Given the description of an element on the screen output the (x, y) to click on. 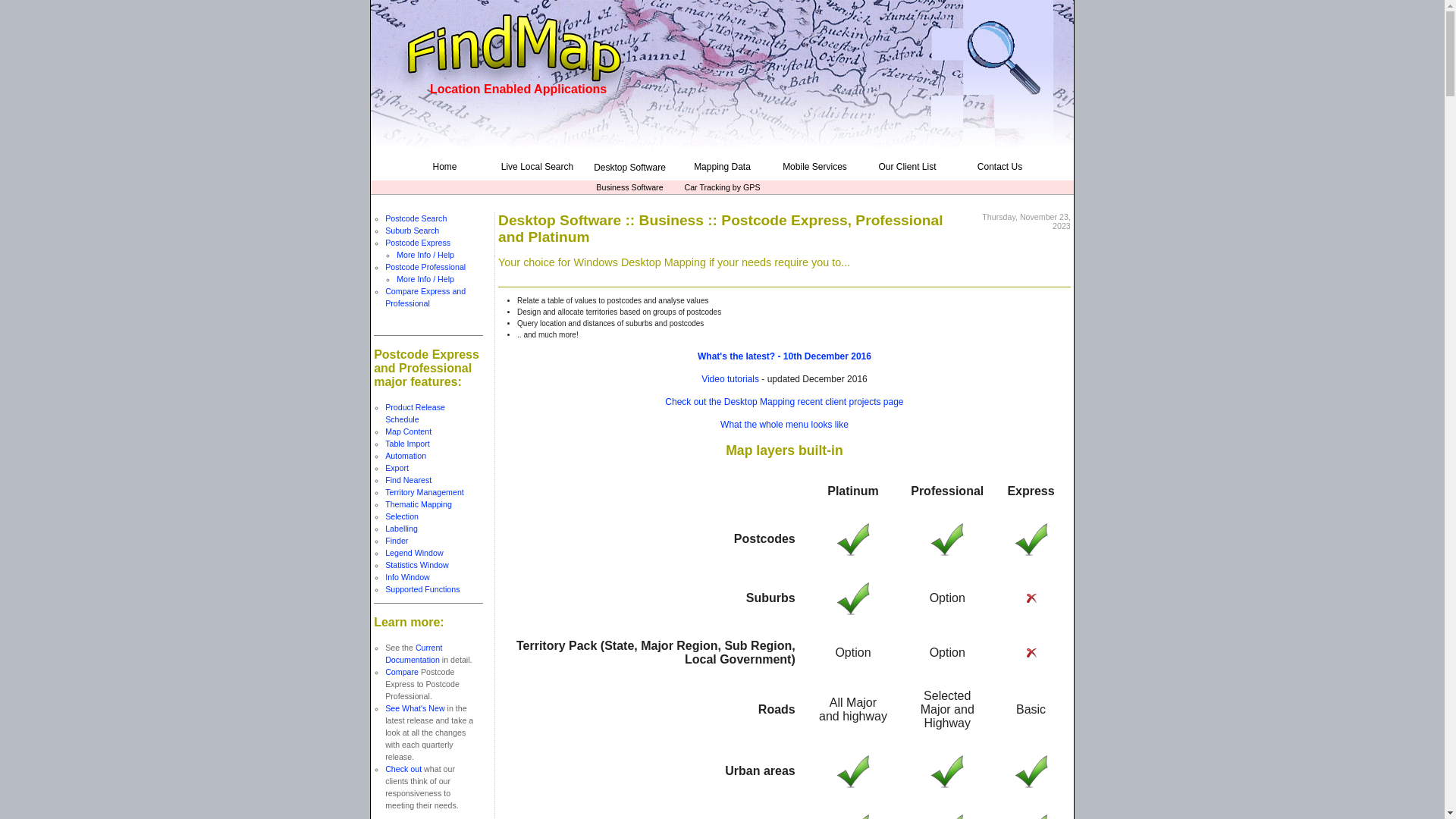
Table Import Element type: text (407, 443)
Product Release Schedule Element type: text (415, 412)
Check out Element type: text (403, 768)
Home Element type: text (444, 166)
Live Local Search Element type: text (536, 166)
Mobile Services Element type: text (814, 166)
Our Client List Element type: text (906, 166)
Supported Functions Element type: text (422, 588)
Territory Management Element type: text (424, 491)
See What's New Element type: text (414, 707)
Labelling Element type: text (401, 528)
Business Software Element type: text (629, 186)
More Info / Help Element type: text (425, 254)
Current Documentation Element type: text (413, 653)
Thematic Mapping Element type: text (418, 503)
What's the latest? - 10th December 2016 Element type: text (784, 356)
Suburb Search Element type: text (412, 230)
Video tutorials Element type: text (730, 378)
Contact Us Element type: text (999, 166)
Check out the Desktop Mapping recent client projects page Element type: text (784, 401)
Statistics Window Element type: text (416, 564)
Info Window Element type: text (407, 576)
More Info / Help Element type: text (425, 278)
Desktop Software Element type: text (629, 167)
Car Tracking by GPS Element type: text (721, 186)
Find Nearest Element type: text (408, 479)
Automation Element type: text (405, 455)
Postcode Search Element type: text (415, 217)
Finder Element type: text (396, 540)
Map Content Element type: text (408, 431)
Mapping Data Element type: text (721, 166)
Compare Express and Professional Element type: text (425, 296)
Postcode Professional Element type: text (425, 266)
Selection Element type: text (401, 515)
Legend Window Element type: text (413, 552)
Postcode Express Element type: text (417, 242)
Export Element type: text (396, 467)
Compare Element type: text (401, 671)
What the whole menu looks like Element type: text (784, 424)
